Given the description of an element on the screen output the (x, y) to click on. 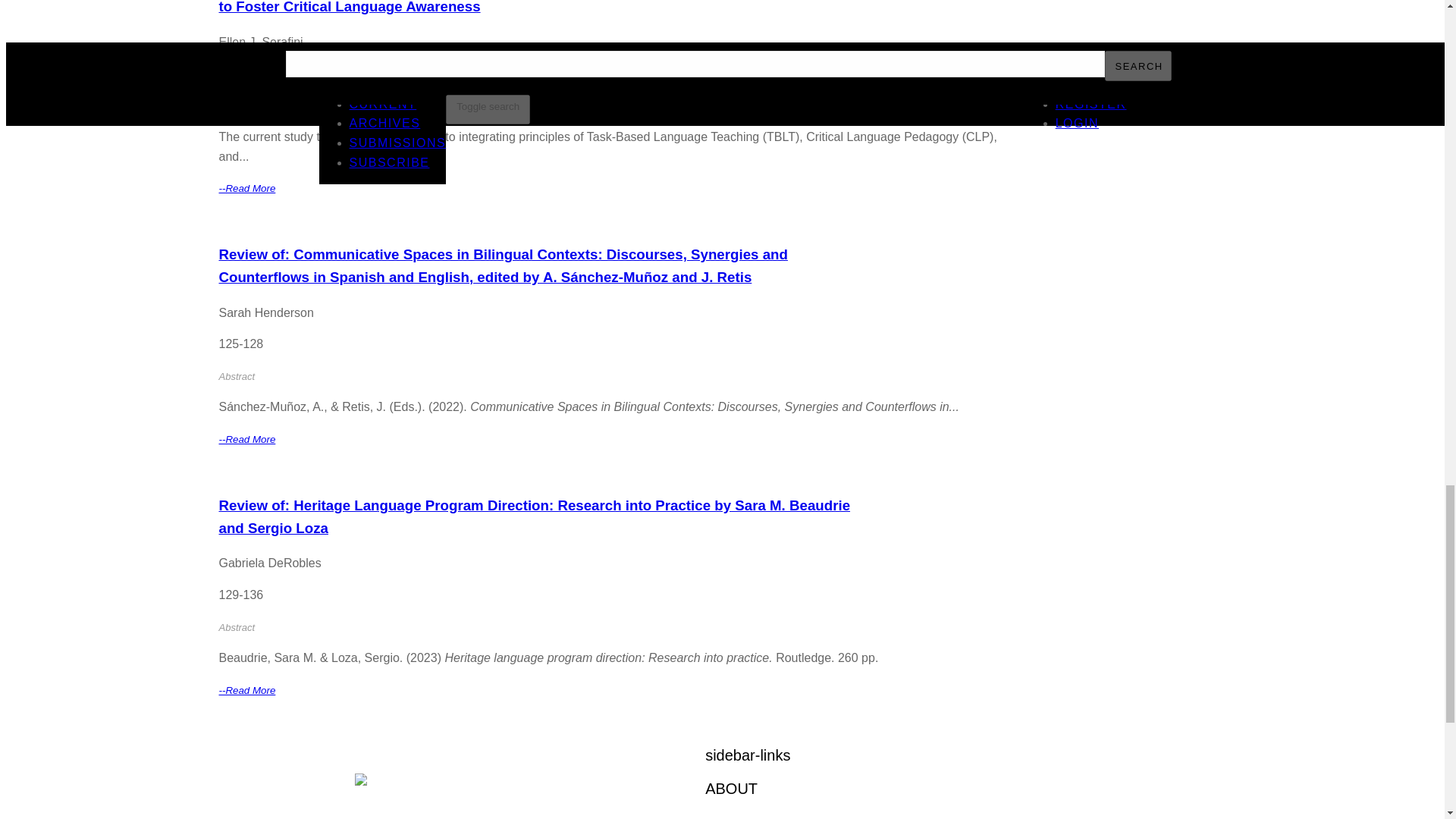
--Read More (246, 689)
REQUIRES SUBSCRIPTION OR FEE PDF (627, 219)
--Read More (246, 187)
REQUIRES SUBSCRIPTION OR FEE HTML (879, 219)
REQUIRES SUBSCRIPTION OR FEE HTML (879, 470)
REQUIRES SUBSCRIPTION OR FEE PDF (627, 470)
--Read More (246, 438)
